Given the description of an element on the screen output the (x, y) to click on. 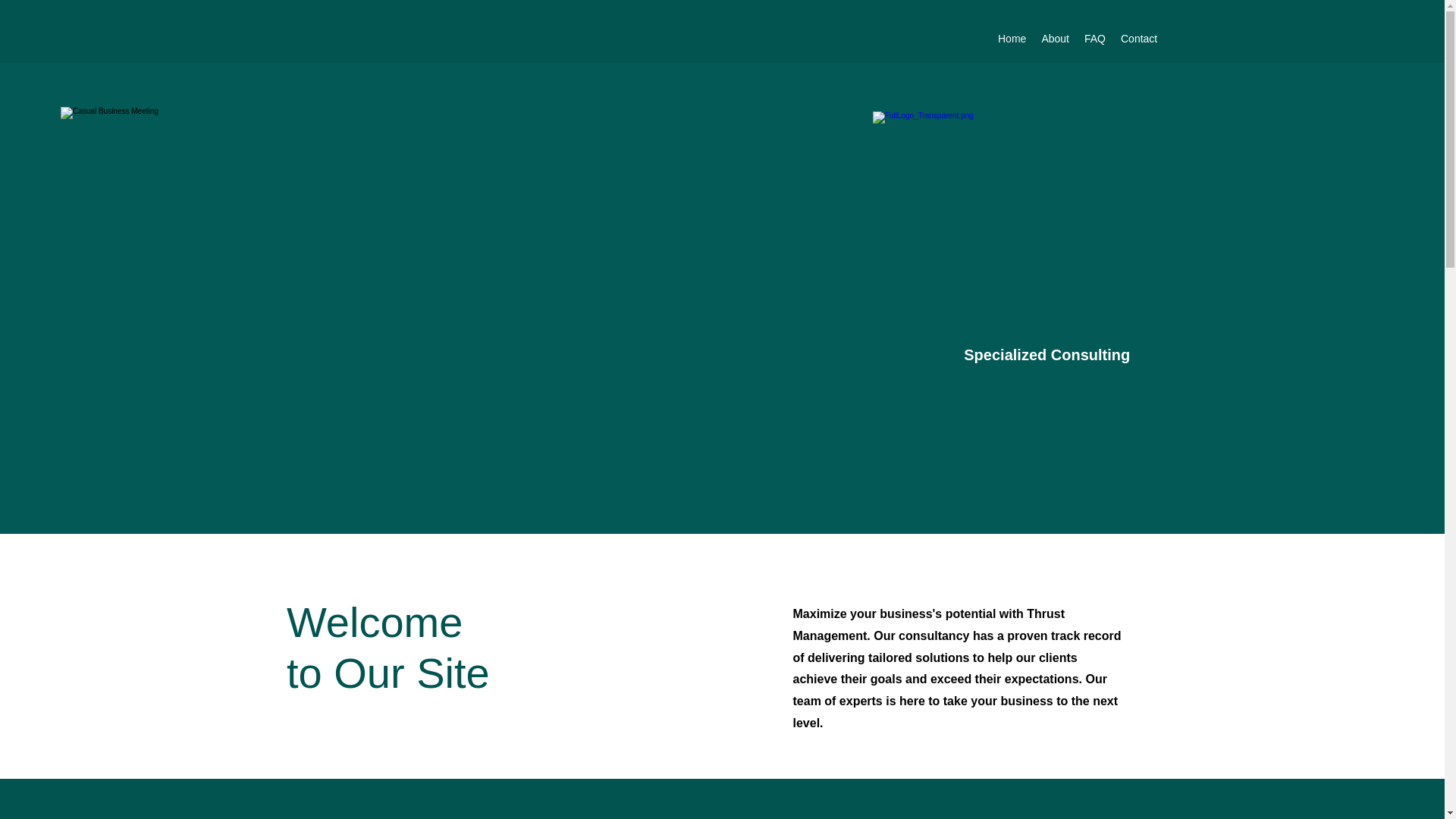
Home (1011, 38)
FAQ (1095, 38)
Contact (1138, 38)
About (1055, 38)
